Given the description of an element on the screen output the (x, y) to click on. 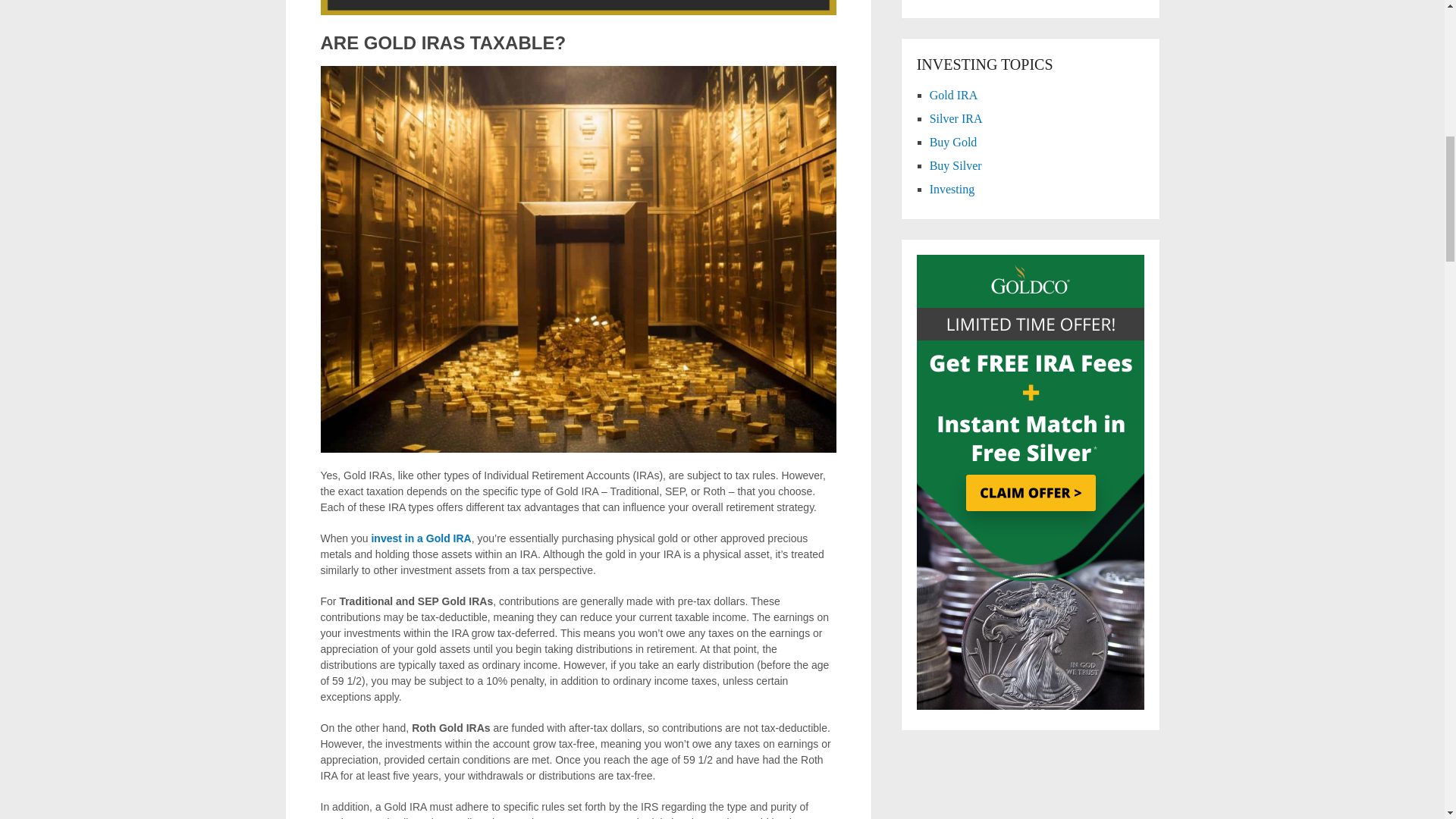
Investing (952, 188)
Silver IRA (956, 118)
invest in a Gold IRA (420, 538)
Gold IRA Tax Rules: New Regulations for 2024? 1 (577, 7)
Buy Gold (953, 141)
Buy Silver (955, 164)
Gold IRA (954, 94)
